Given the description of an element on the screen output the (x, y) to click on. 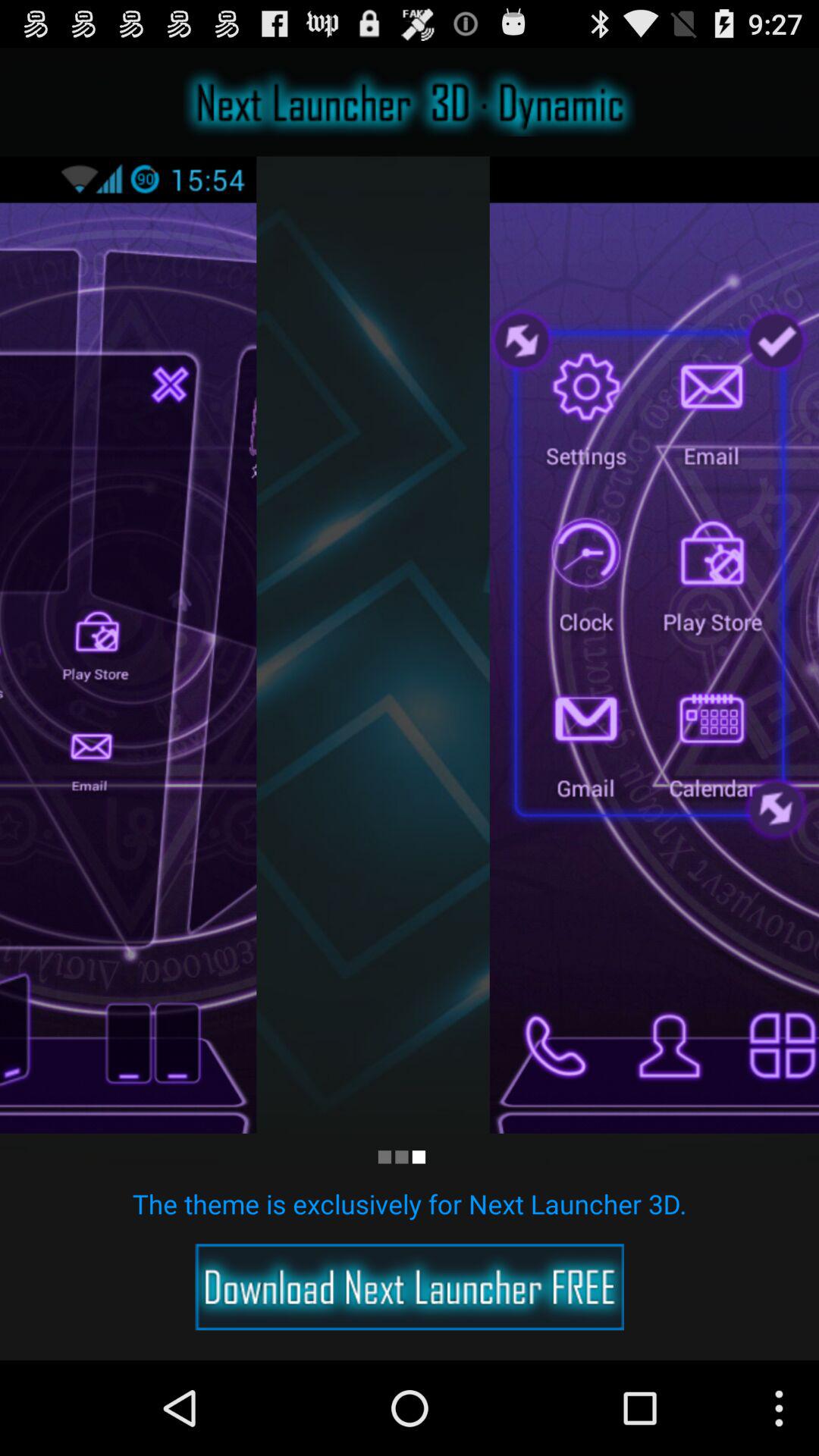
open download page (409, 1286)
